Given the description of an element on the screen output the (x, y) to click on. 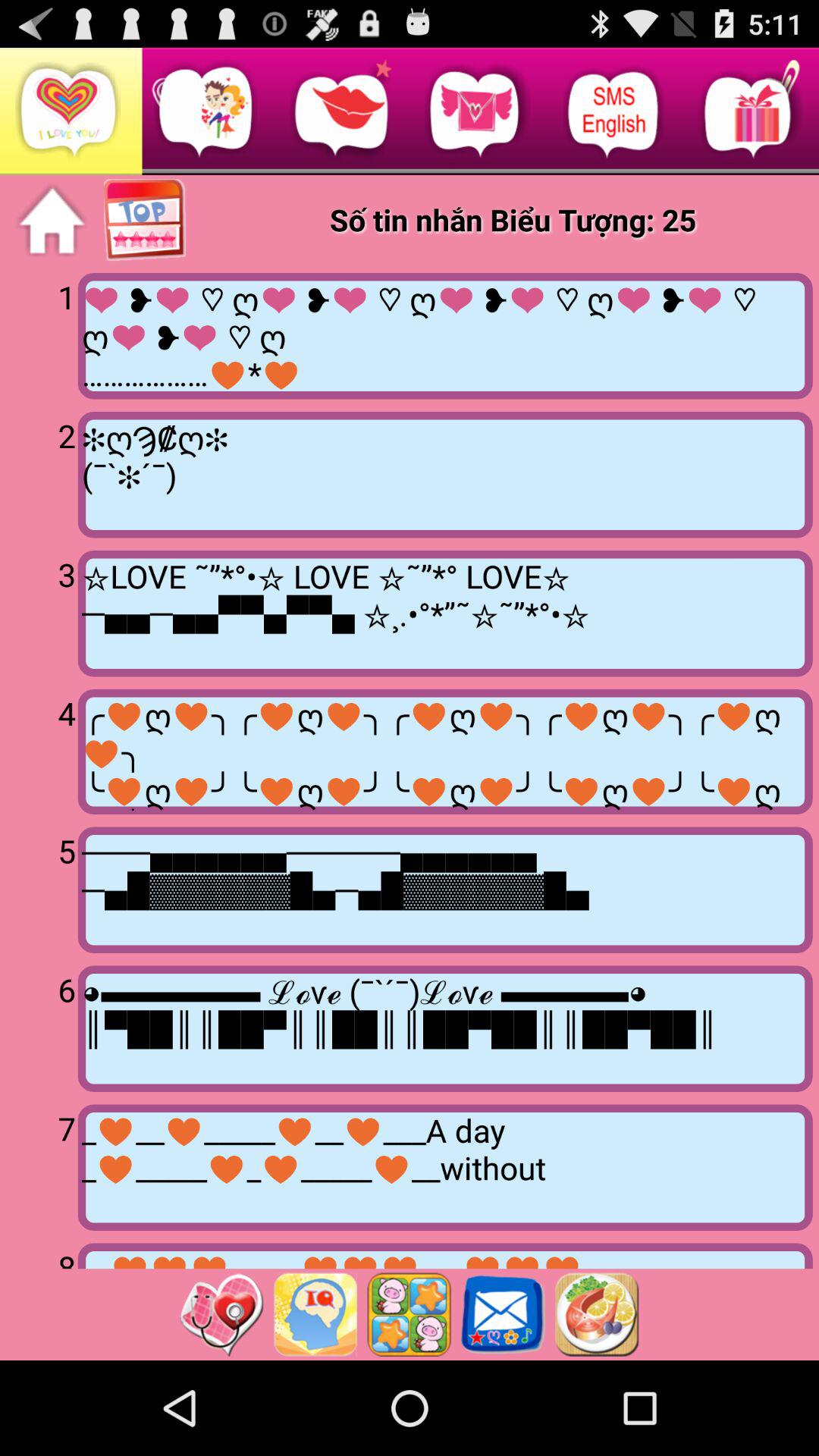
launch the 8 (41, 1255)
